Given the description of an element on the screen output the (x, y) to click on. 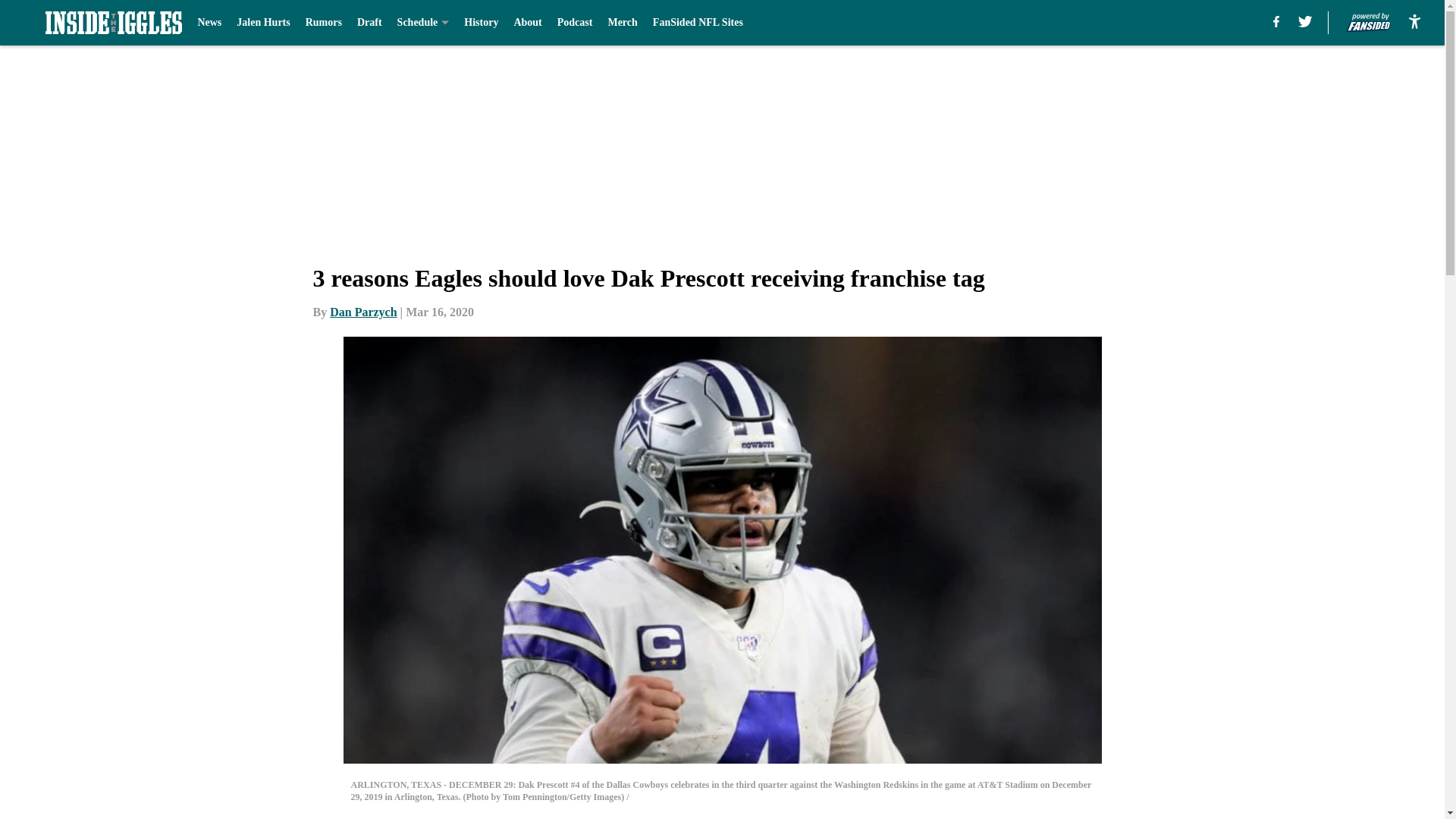
Merch (622, 22)
FanSided NFL Sites (697, 22)
Podcast (574, 22)
Draft (368, 22)
News (208, 22)
Dan Parzych (363, 311)
Jalen Hurts (262, 22)
About (527, 22)
History (480, 22)
Rumors (323, 22)
